Given the description of an element on the screen output the (x, y) to click on. 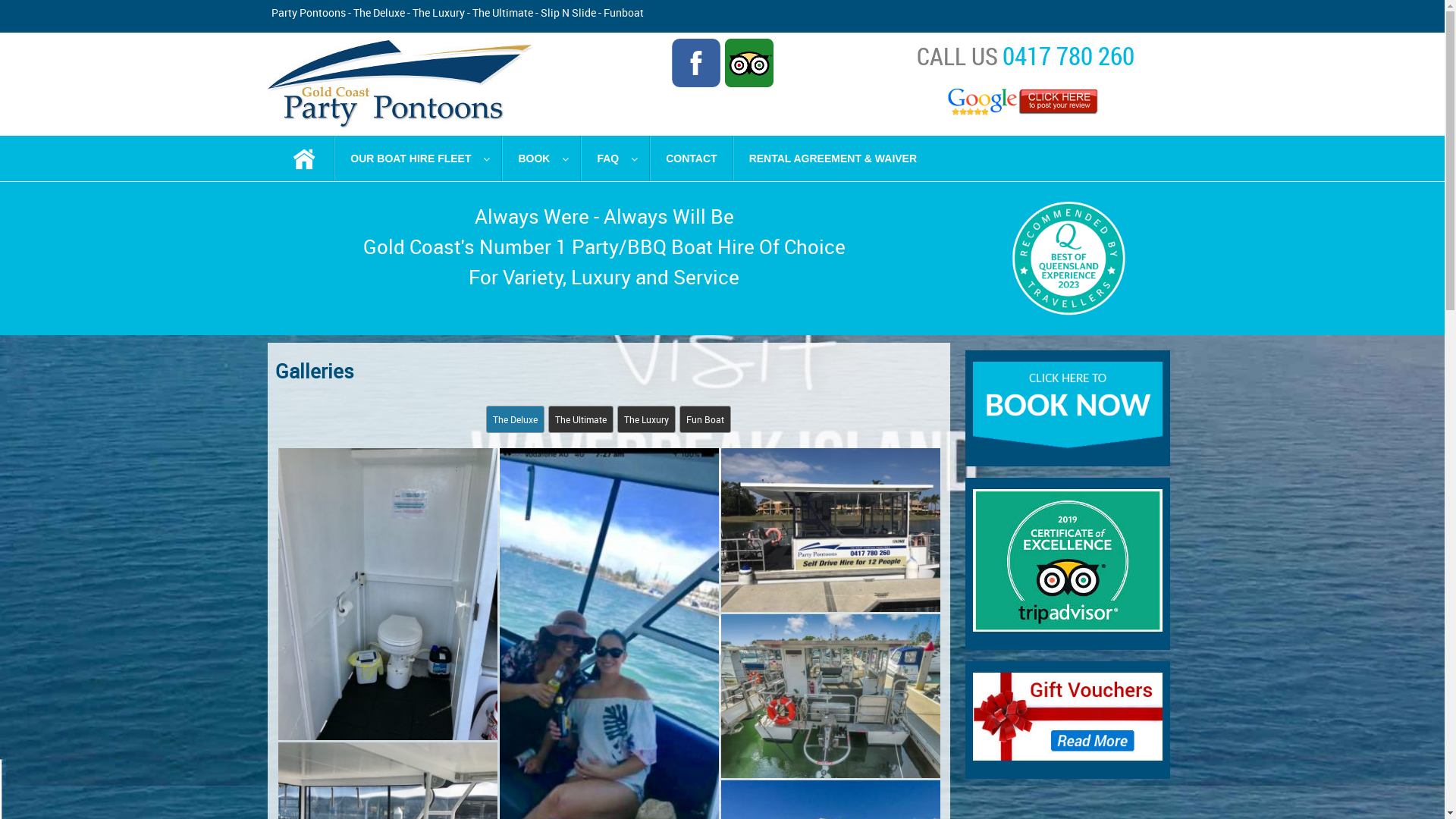
The Ultimate Element type: text (580, 418)
Google Review Element type: hover (1024, 101)
Funboat Element type: text (623, 12)
The Luxury Element type: text (438, 12)
Trip Advisor Element type: hover (748, 62)
   Element type: text (304, 158)
RENTAL AGREEMENT & WAIVER Element type: text (832, 158)
Book Broadwater Hire Boats Element type: hover (1066, 404)
Trip Advisor award Element type: hover (1066, 560)
Slip N Slide Element type: text (567, 12)
OUR BOAT HIRE FLEET Element type: text (418, 158)
Fun Boat Element type: text (705, 418)
Google Review Element type: hover (1025, 101)
BOOK Element type: text (541, 158)
The Luxury Element type: text (646, 418)
The Deluxe Element type: text (515, 418)
Follow us on Facebook Element type: hover (695, 62)
FAQ Element type: text (614, 158)
The Ultimate Element type: text (501, 12)
phone Element type: hover (1025, 54)
Gold Coast Cruise Gift Vouchers Element type: hover (1066, 716)
The Deluxe Element type: text (378, 12)
CONTACT Element type: text (690, 158)
